Given the description of an element on the screen output the (x, y) to click on. 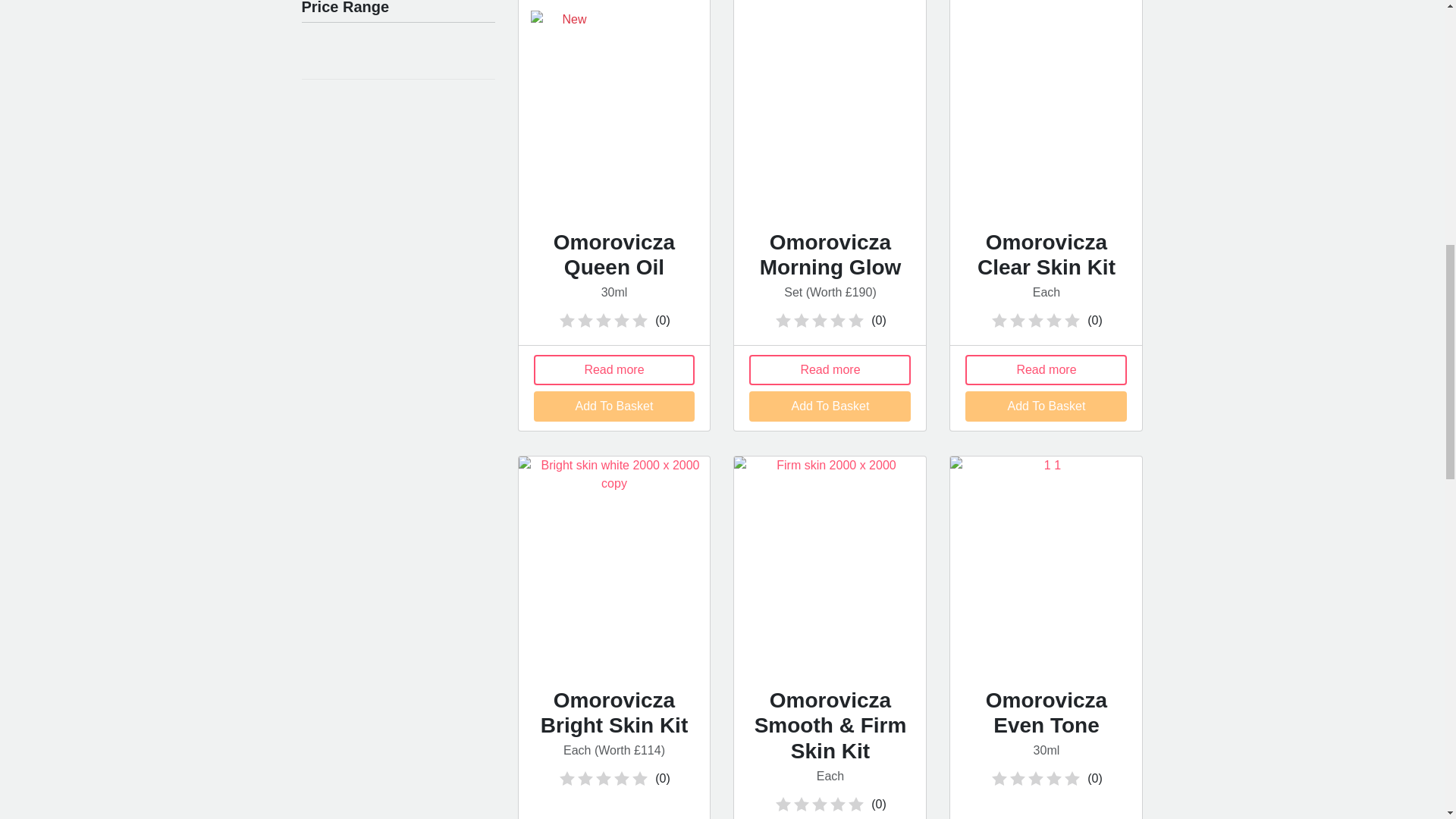
Read more (1045, 369)
Read more (614, 369)
Add To Basket (614, 406)
Add To Basket (830, 406)
Add To Basket (1045, 406)
Read more (830, 369)
